Given the description of an element on the screen output the (x, y) to click on. 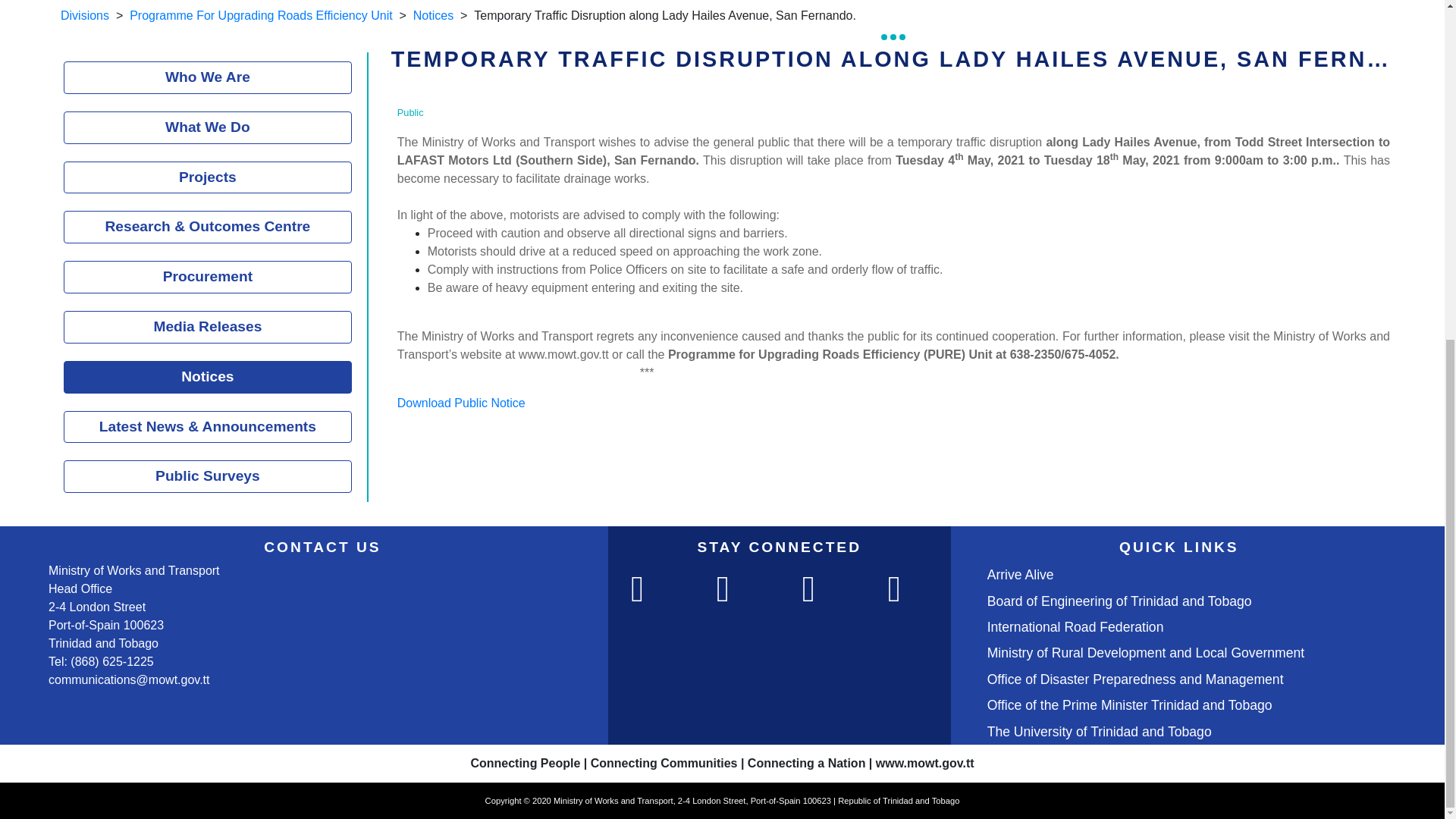
Arrive Alive (1020, 574)
Procurement (208, 277)
Divisions (85, 15)
Programme For Upgrading Roads Efficiency Unit (261, 15)
Media Releases (208, 327)
Download Public Notice (461, 402)
The University of Trinidad and Tobago (1099, 731)
International Road Federation (1075, 626)
Projects (208, 177)
Who We Are (208, 77)
Notices (432, 15)
Board of Engineering of Trinidad and Tobago (1119, 601)
Public Surveys (208, 476)
Notices (208, 377)
Ministry of Rural Development and Local Government (1145, 652)
